Given the description of an element on the screen output the (x, y) to click on. 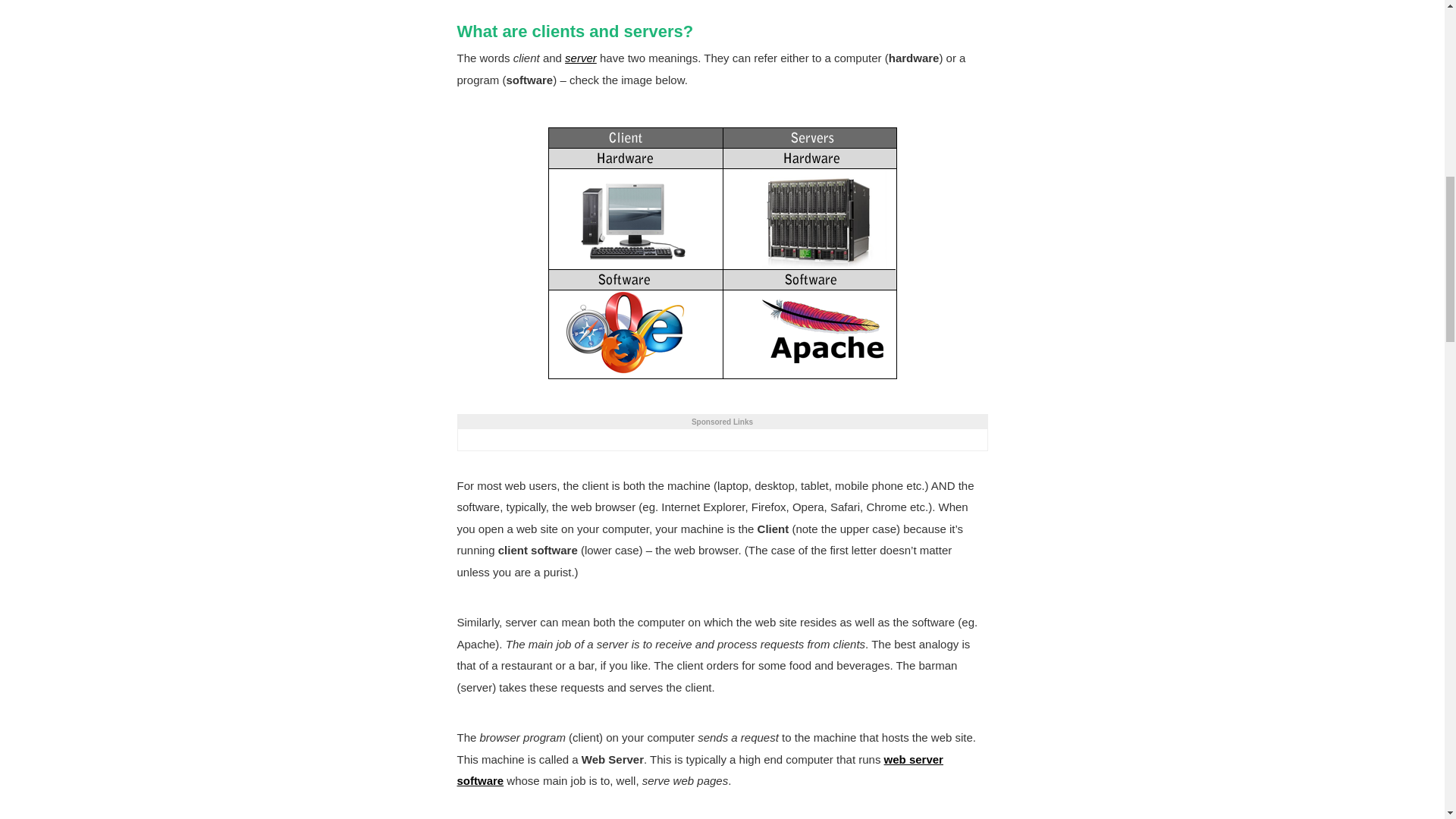
web server software (699, 769)
List of web servers (699, 769)
server (580, 57)
